Given the description of an element on the screen output the (x, y) to click on. 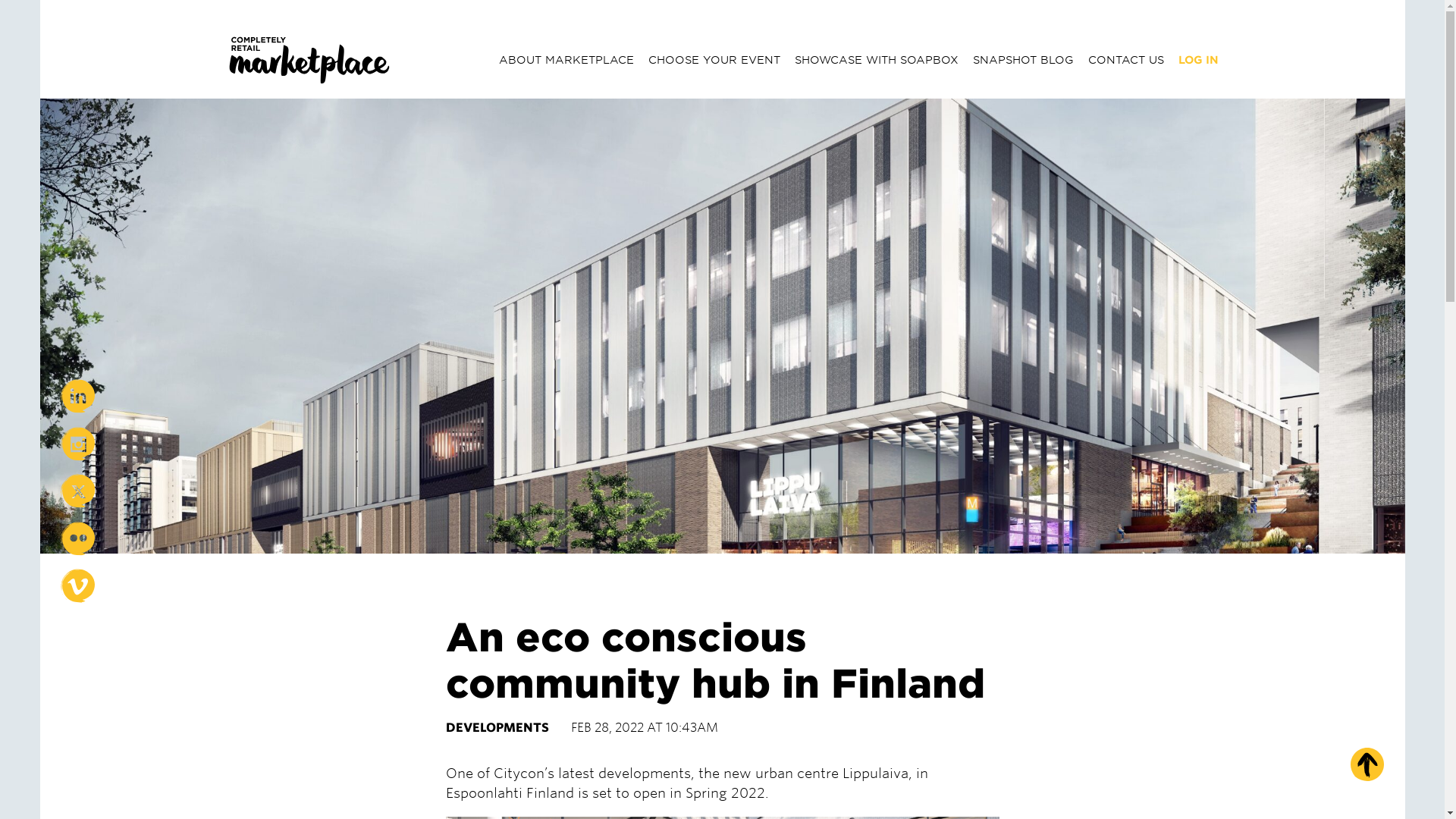
CHOOSE YOUR EVENT (713, 60)
CONTACT US (1125, 60)
ABOUT MARKETPLACE (566, 60)
SHOWCASE WITH SOAPBOX (876, 60)
SNAPSHOT BLOG (1023, 60)
LOG IN (1197, 60)
